Given the description of an element on the screen output the (x, y) to click on. 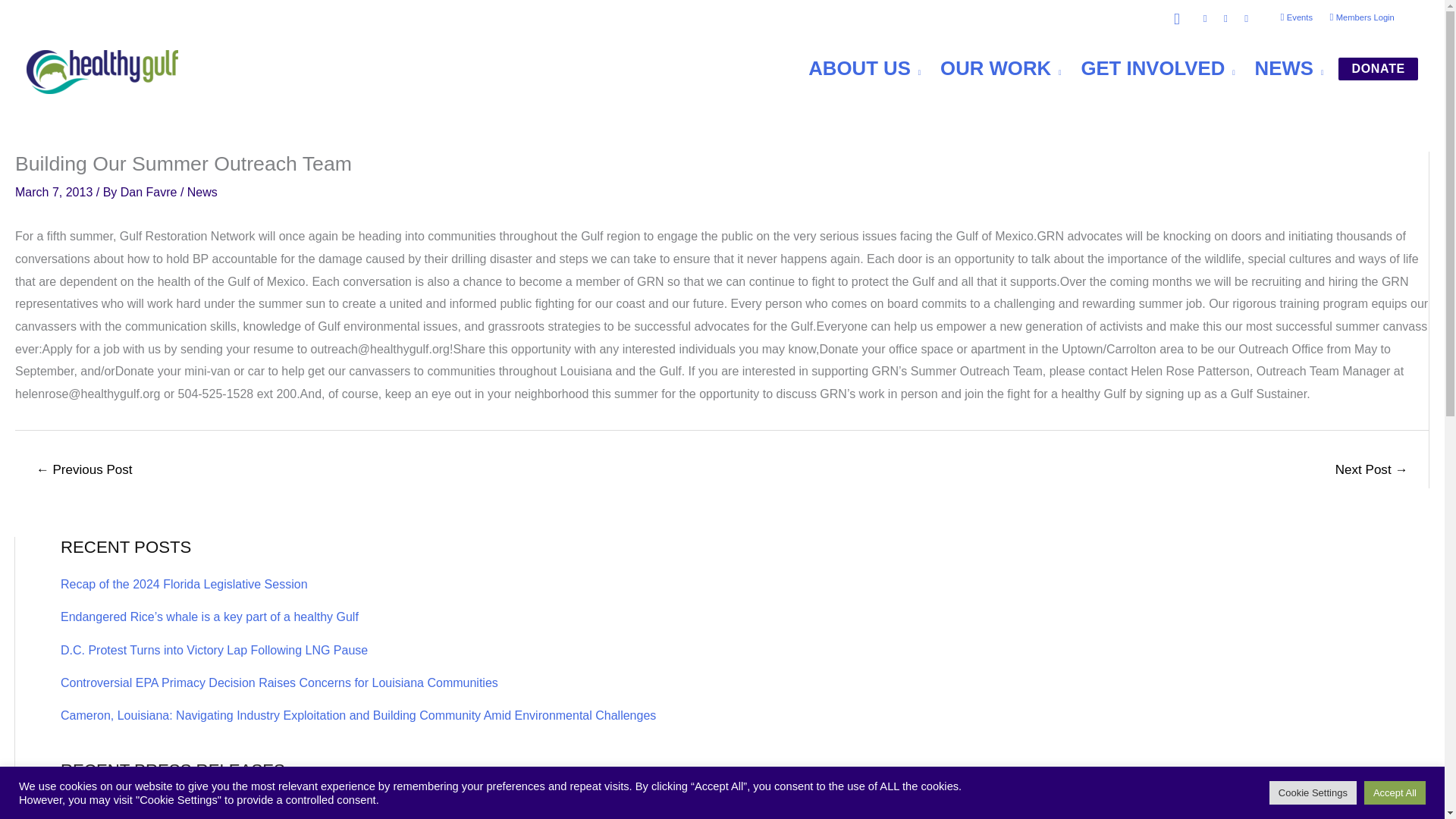
DONATE (1378, 68)
FACEBOOK (1203, 20)
Members Login (1361, 18)
Events (1295, 18)
NEWS (1278, 68)
ABOUT US (854, 68)
TWITTER (1246, 20)
INSTAGAM (1225, 20)
OUR WORK (990, 68)
GET INVOLVED (1147, 68)
View all posts by Dan Favre (150, 192)
